Given the description of an element on the screen output the (x, y) to click on. 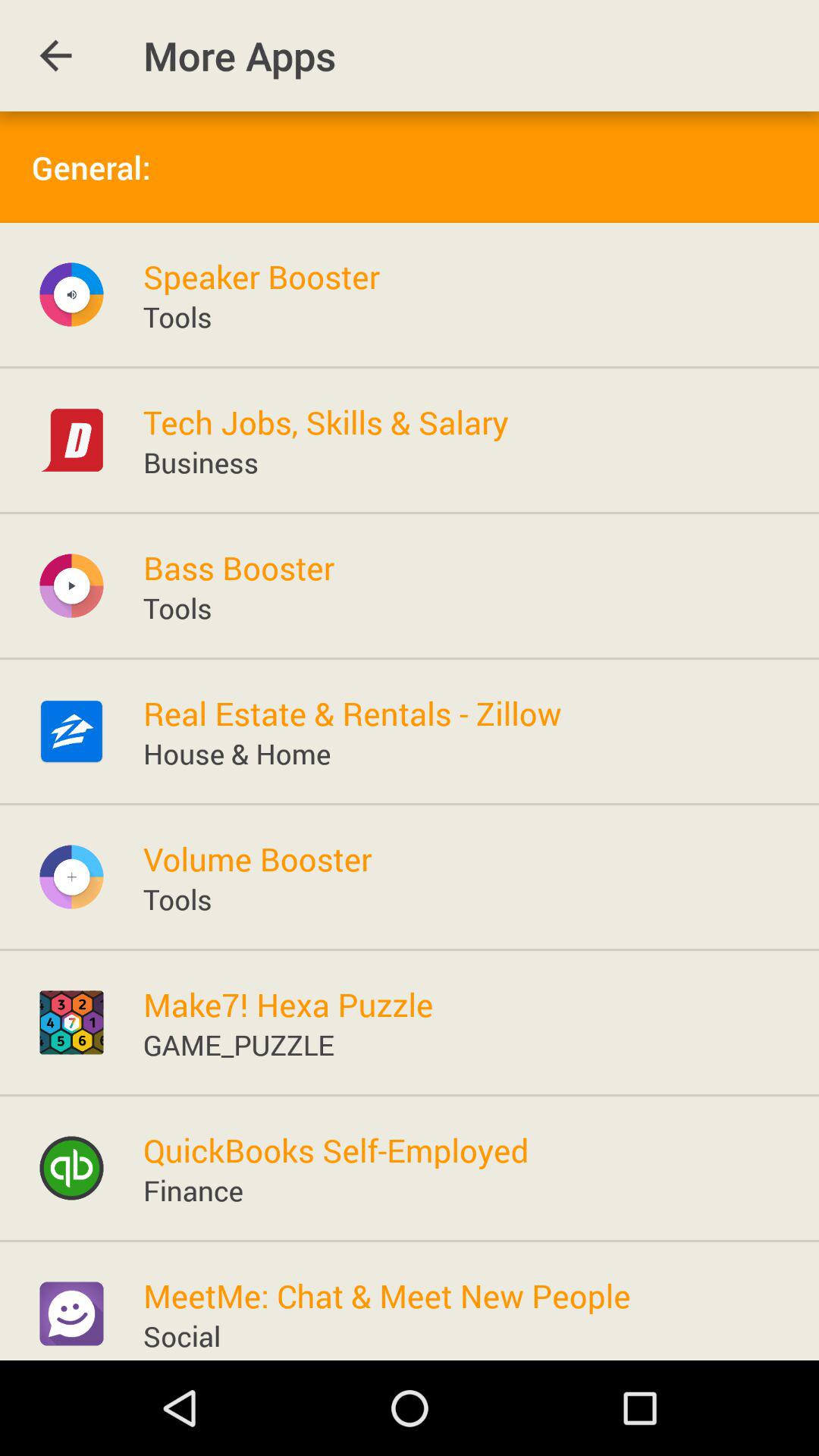
choose the meetme chat meet item (386, 1295)
